Given the description of an element on the screen output the (x, y) to click on. 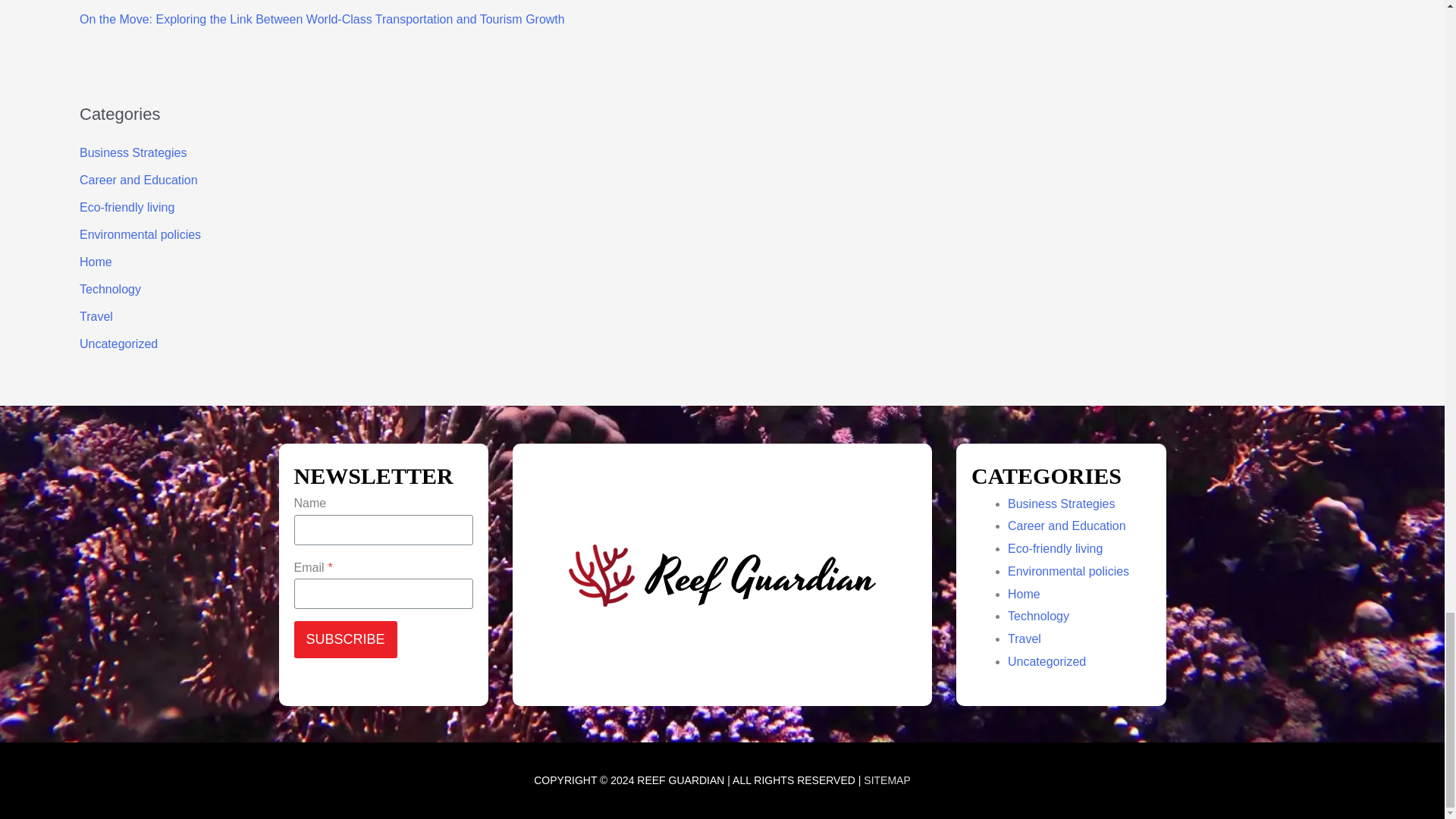
Technology (110, 288)
Environmental policies (140, 234)
Career and Education (1066, 525)
SUBSCRIBE (345, 638)
Travel (96, 316)
Business Strategies (1061, 503)
Uncategorized (118, 343)
Eco-friendly living (1054, 548)
Home (96, 261)
